Given the description of an element on the screen output the (x, y) to click on. 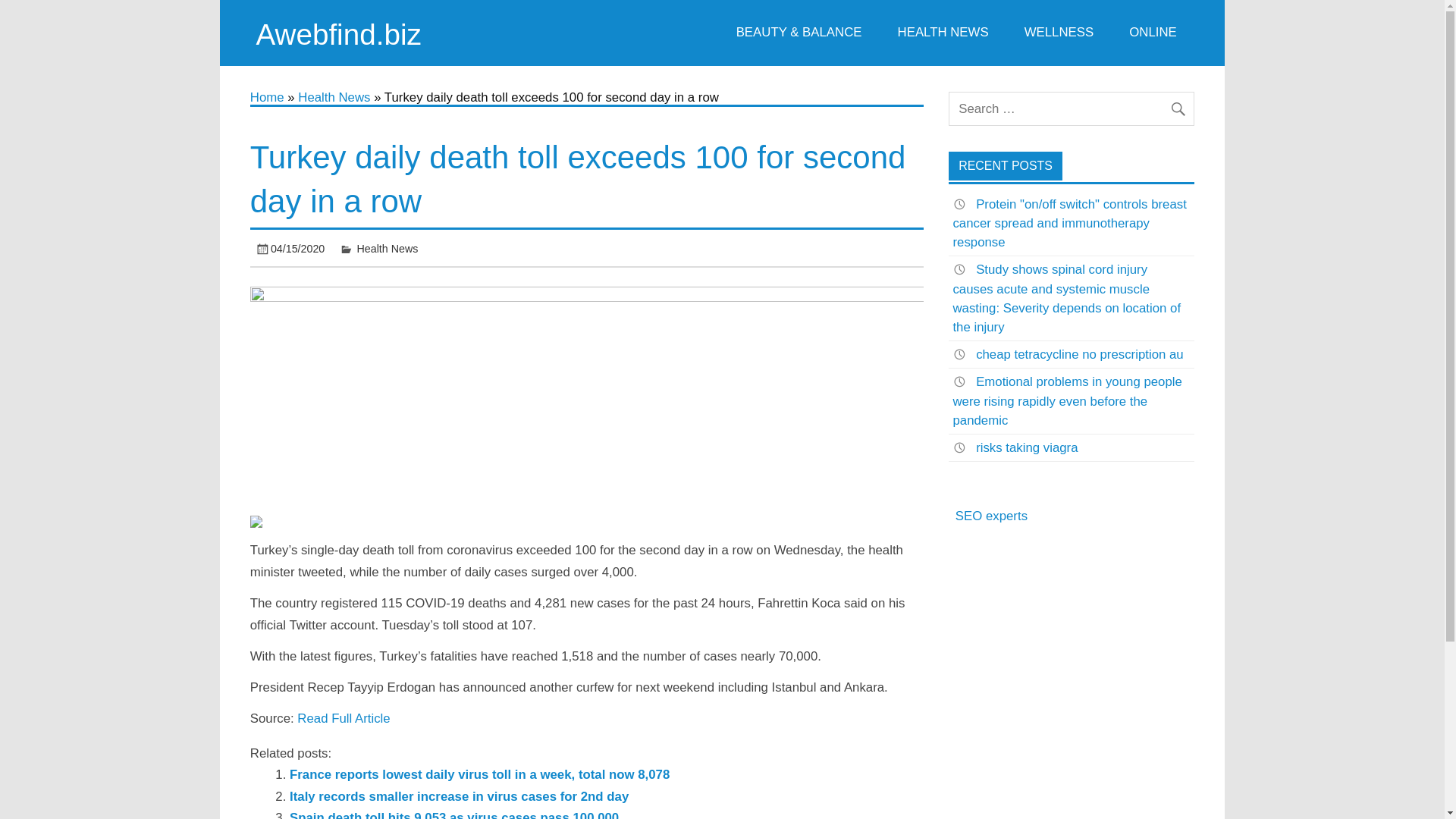
Awebfind.biz (338, 34)
ONLINE (1153, 33)
SEO experts (991, 515)
Read Full Article (343, 718)
cheap tetracycline no prescription au (1079, 354)
Health News (333, 97)
HEALTH NEWS (942, 33)
risks taking viagra (1026, 447)
